Given the description of an element on the screen output the (x, y) to click on. 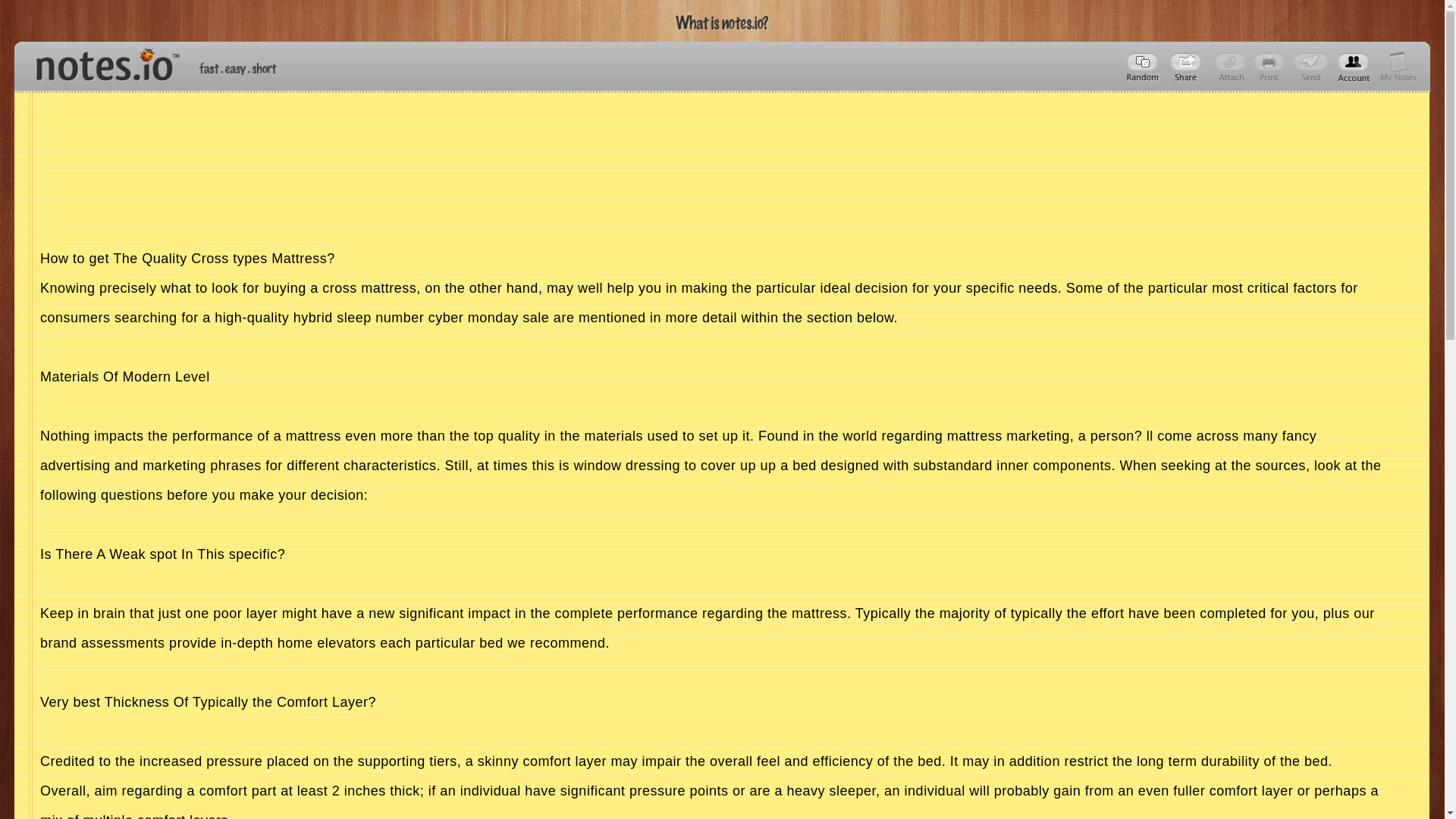
HqTW (1187, 67)
Account (1353, 67)
Fast, easy and short (237, 68)
Coming soon (1270, 67)
Account (1398, 67)
what is notes.io? (721, 22)
Popular notes (1143, 67)
notes (100, 61)
